Given the description of an element on the screen output the (x, y) to click on. 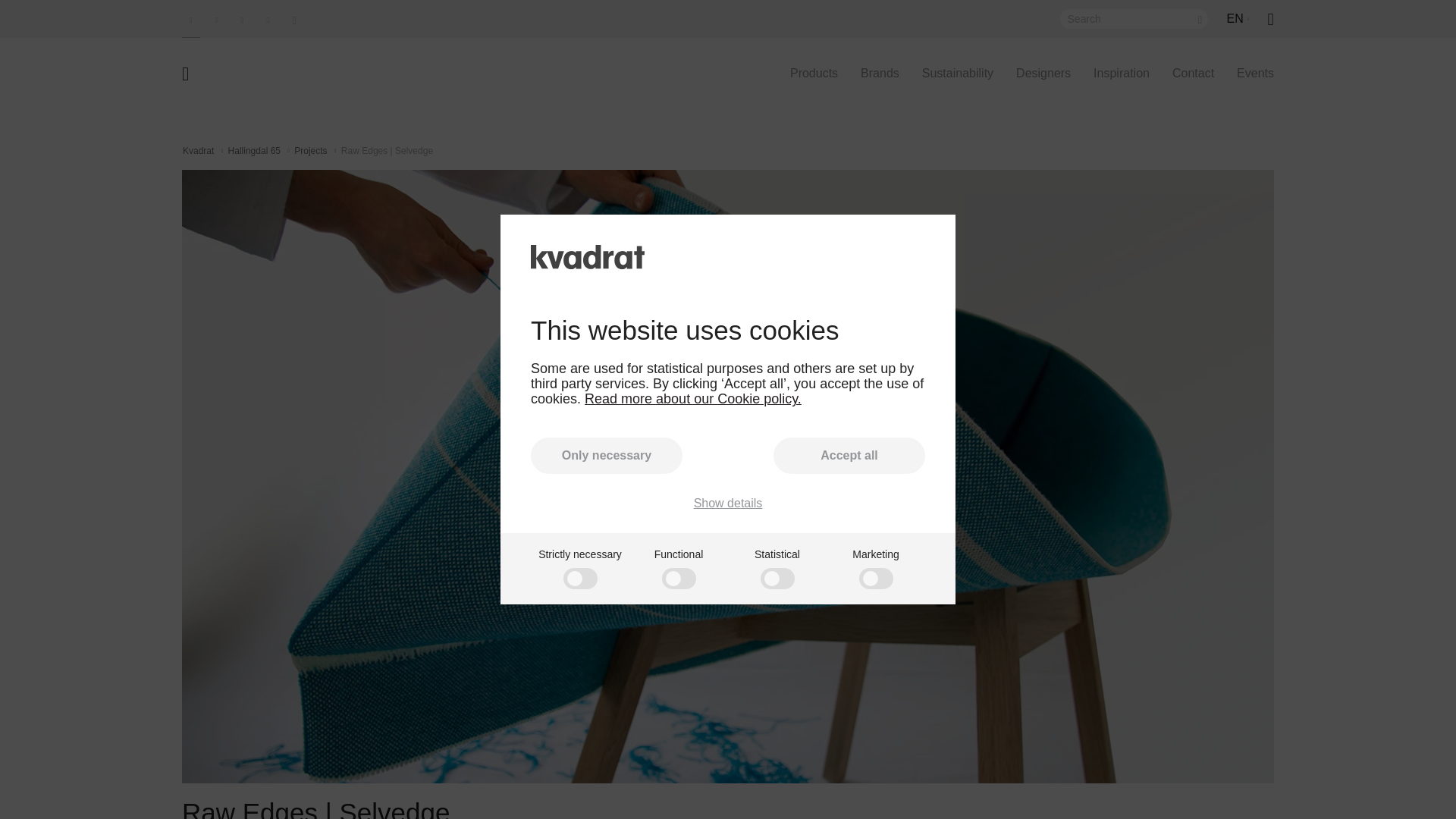
Read more about our Cookie policy. (693, 398)
Only necessary (606, 455)
Accept all (848, 455)
Show details (728, 503)
